Given the description of an element on the screen output the (x, y) to click on. 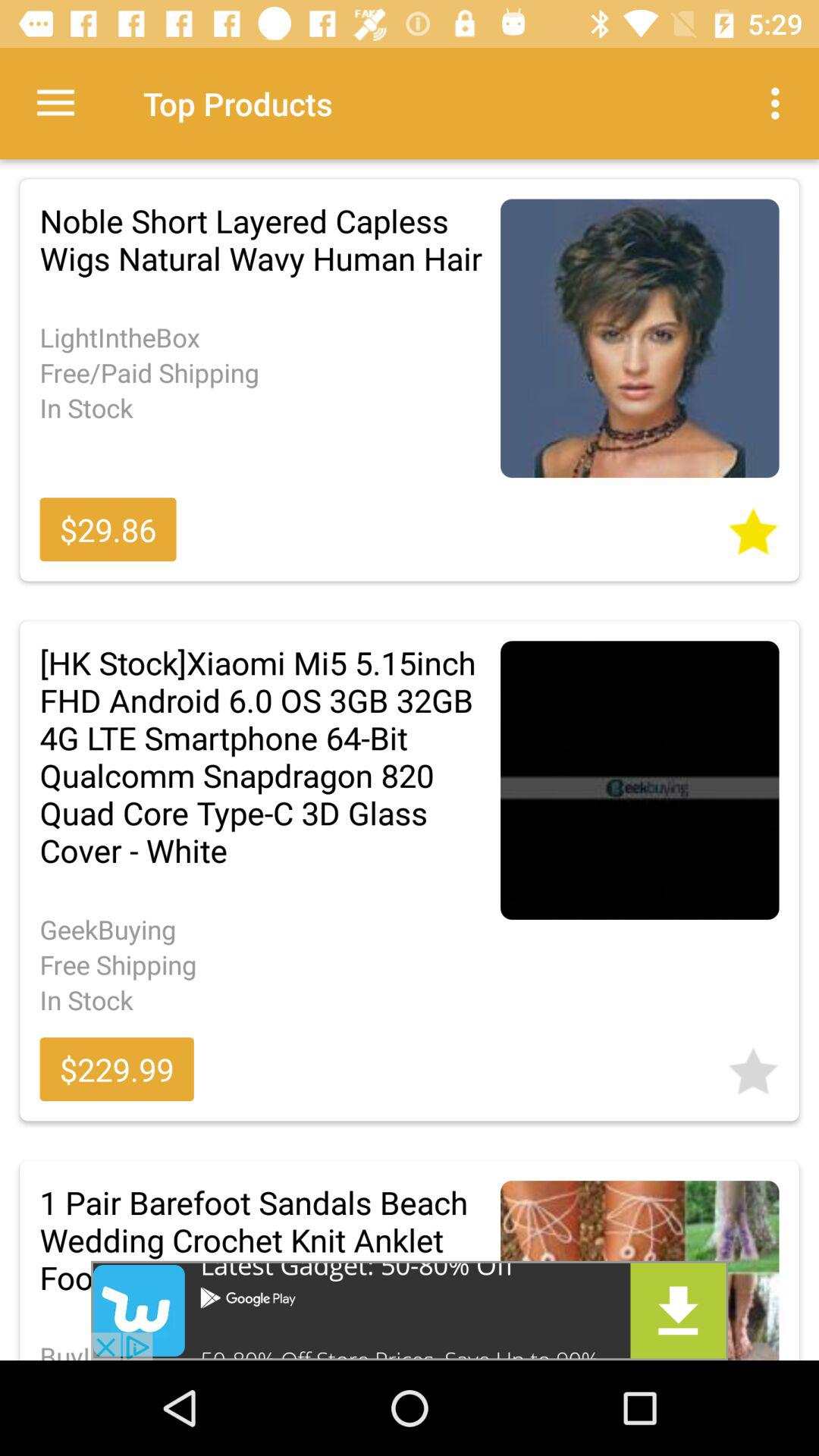
download option (409, 1310)
